Given the description of an element on the screen output the (x, y) to click on. 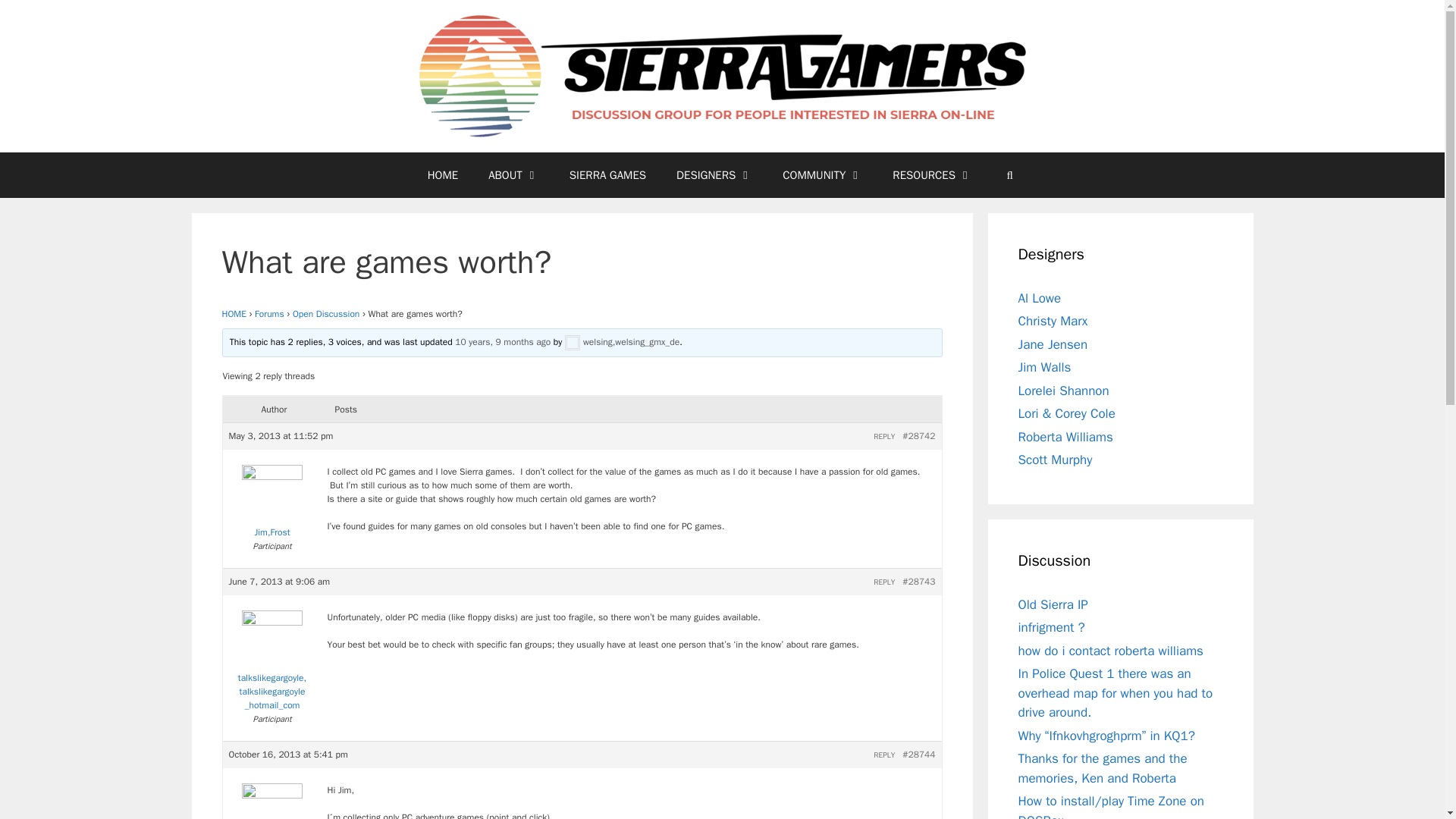
Reply To: What are games worth? (502, 341)
Jim,Frost (271, 504)
RESOURCES (932, 175)
REPLY (884, 436)
10 years, 9 months ago (502, 341)
View Jim,Frost's profile (271, 504)
HOME (233, 313)
DESIGNERS (714, 175)
ABOUT (513, 175)
Open Discussion (325, 313)
SIERRA GAMES (607, 175)
Forums (268, 313)
COMMUNITY (822, 175)
HOME (442, 175)
